Given the description of an element on the screen output the (x, y) to click on. 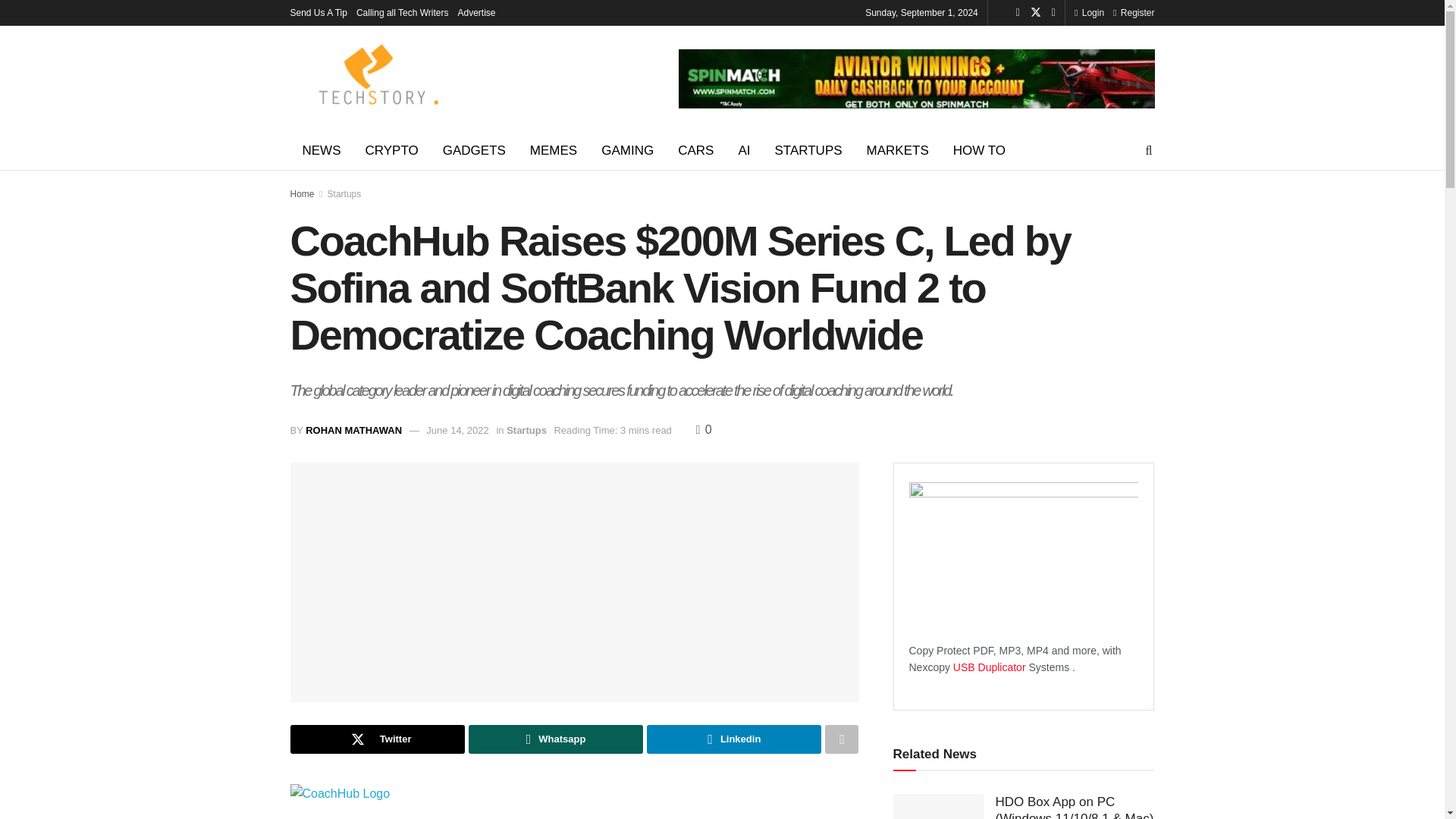
Send Us A Tip (317, 12)
MEMES (553, 150)
MARKETS (897, 150)
Calling all Tech Writers (402, 12)
Login (1088, 12)
STARTUPS (807, 150)
CARS (695, 150)
Register (1133, 12)
CRYPTO (391, 150)
Advertise (477, 12)
